Given the description of an element on the screen output the (x, y) to click on. 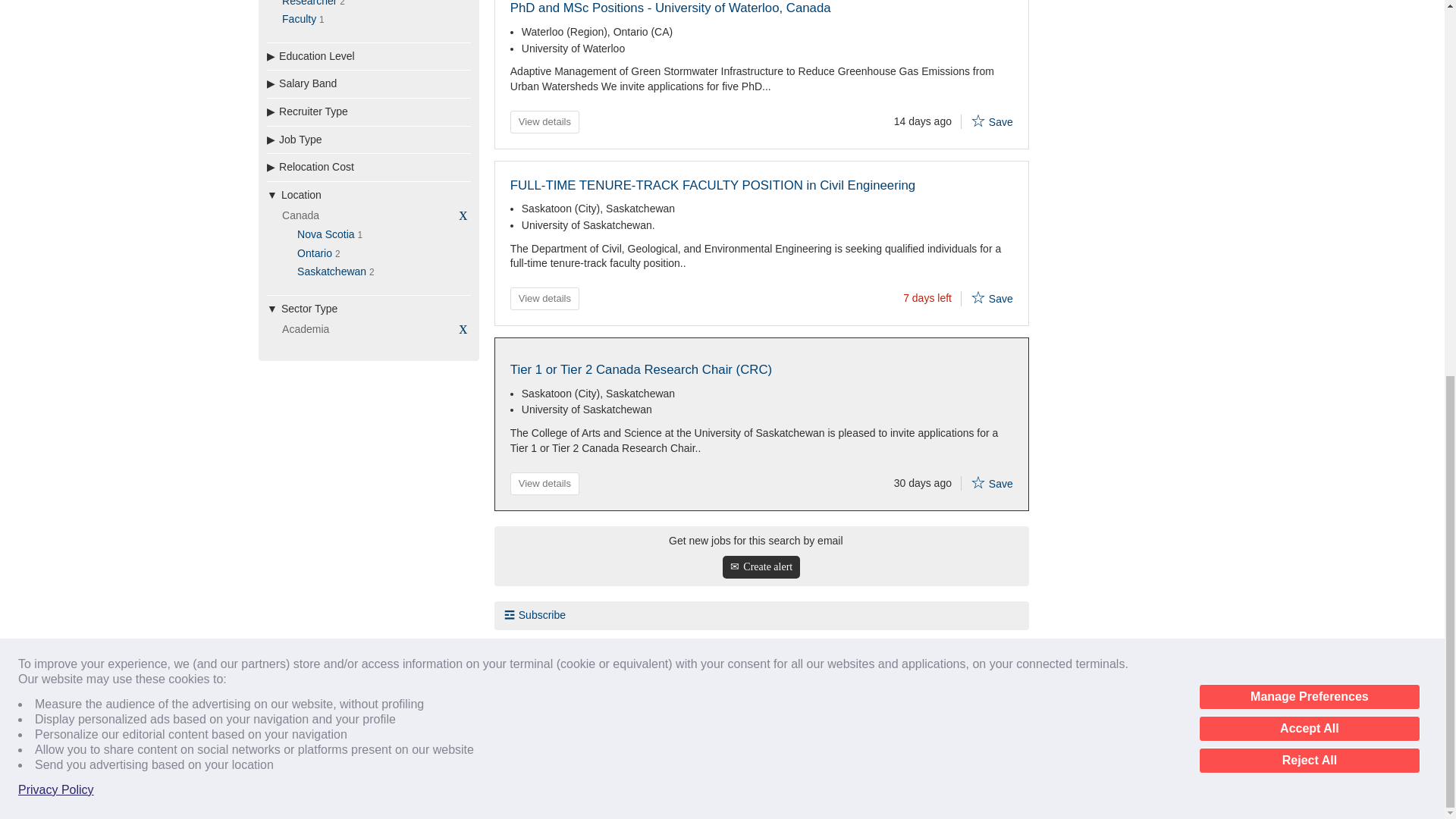
Accept All (1309, 36)
Add to shortlist (978, 120)
Add to shortlist (978, 482)
Reject All (1309, 68)
Researcher (309, 3)
Manage Preferences (1309, 9)
Privacy Policy (55, 98)
Add to shortlist (978, 297)
